Given the description of an element on the screen output the (x, y) to click on. 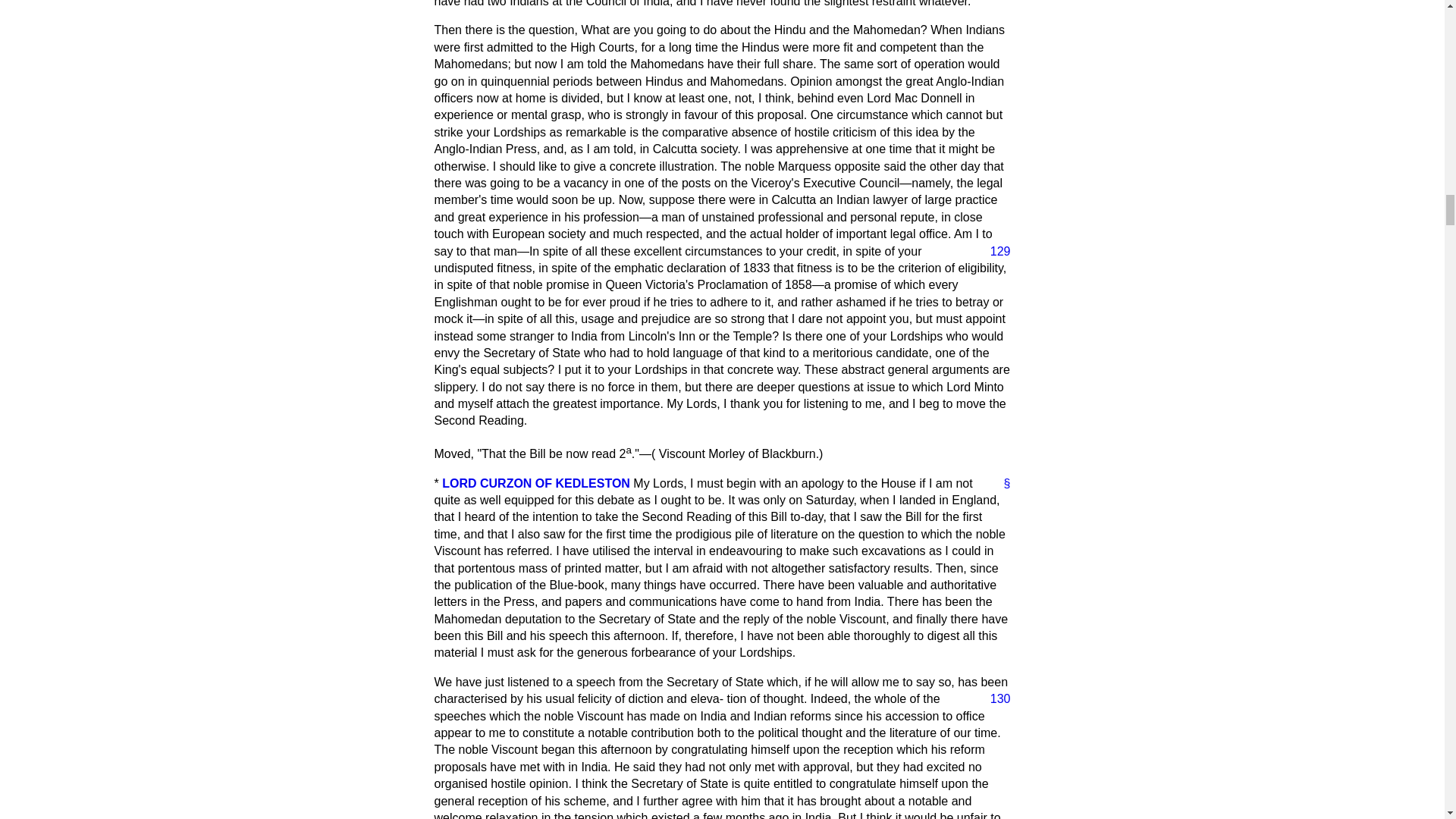
LORD CURZON OF KEDLESTON (536, 482)
130 (994, 699)
129 (994, 251)
